Given the description of an element on the screen output the (x, y) to click on. 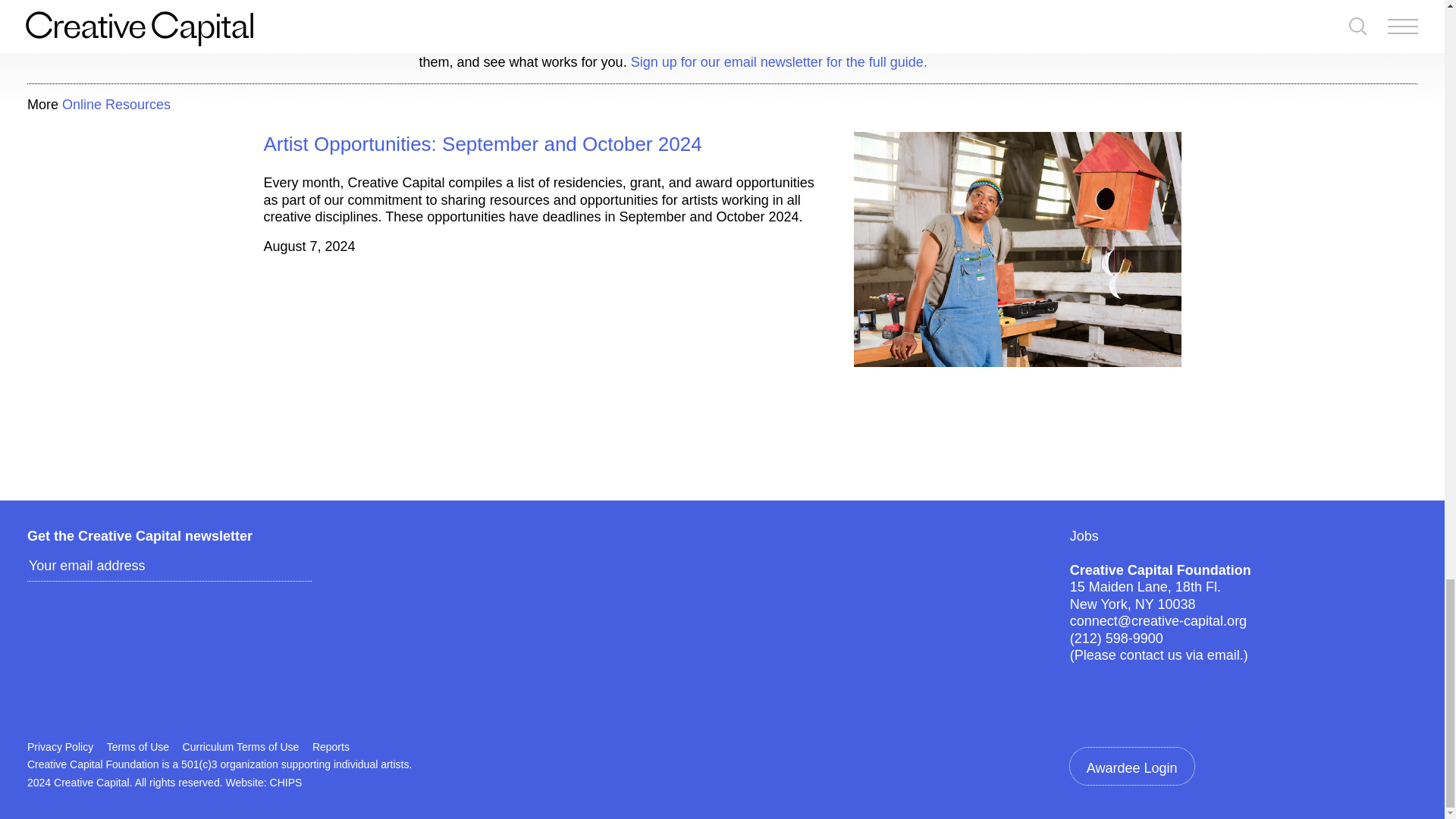
Artist Opportunities: September and October 2024 (482, 143)
Sign up for our email newsletter for the full guide. (778, 61)
Jobs (1084, 535)
Artist Opportunities: September and October 2024 (482, 143)
Privacy Policy (60, 746)
Online Resources (116, 104)
Awardee Login (1131, 765)
